Given the description of an element on the screen output the (x, y) to click on. 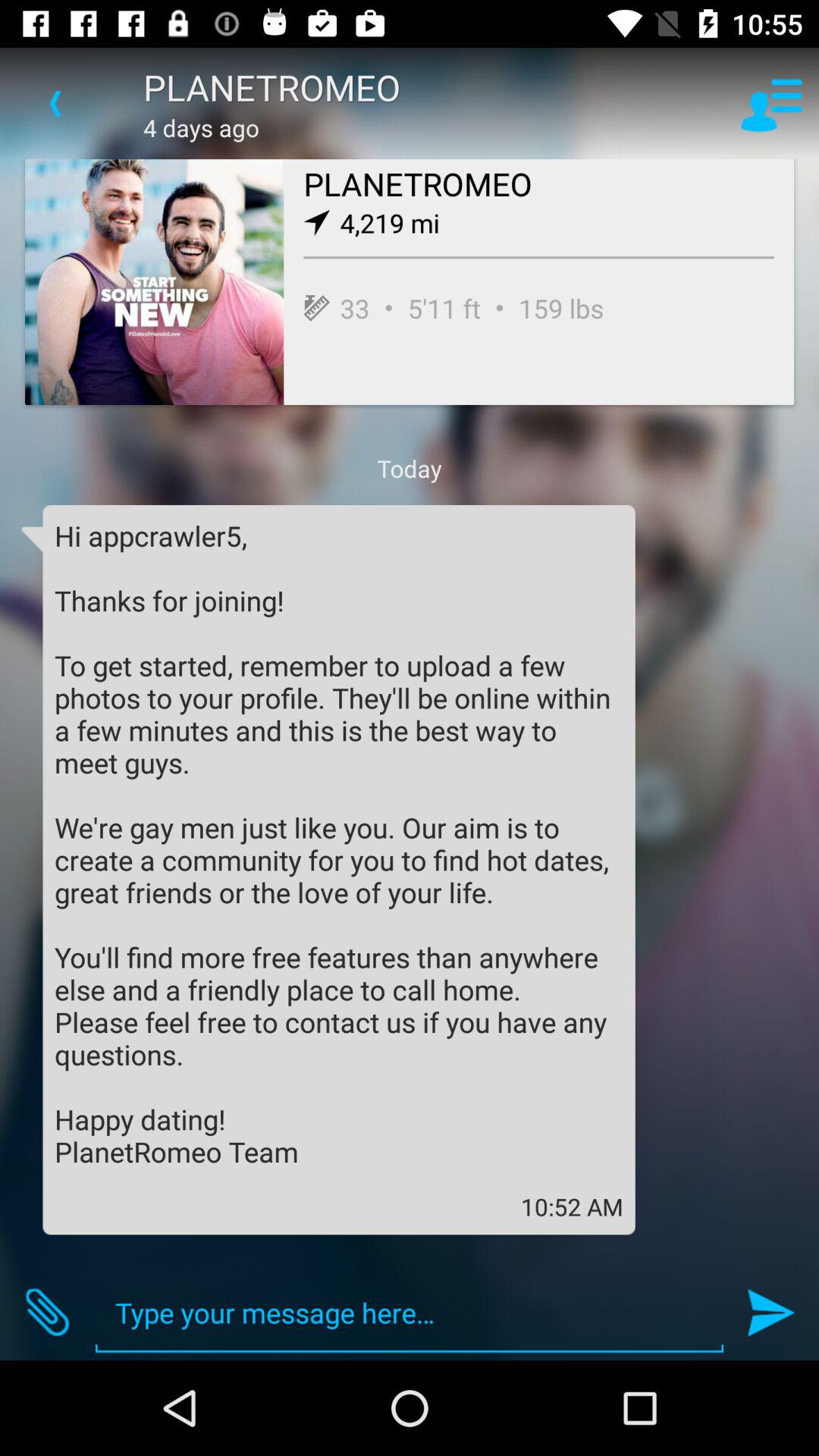
open the hi appcrawler5 thanks (338, 843)
